Given the description of an element on the screen output the (x, y) to click on. 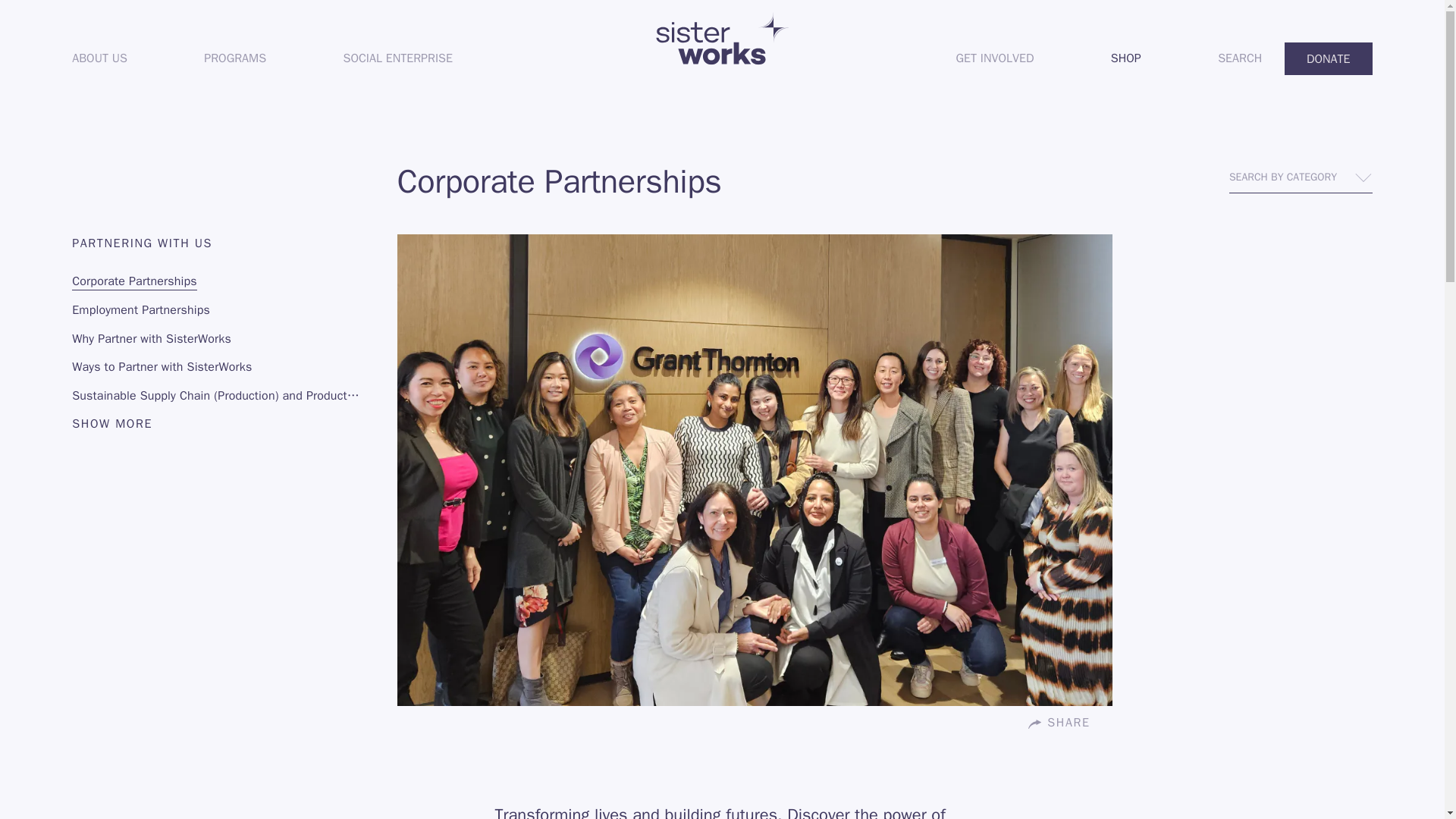
SEARCH BY CATEGORY (1300, 177)
GET INVOLVED (995, 58)
SHOW MORE (111, 423)
PROGRAMS (235, 58)
Employment Partnerships (216, 306)
Why Partner with SisterWorks (1126, 58)
SOCIAL ENTERPRISE (216, 335)
Ways to Partner with SisterWorks (397, 58)
SisterWorks (216, 363)
